Given the description of an element on the screen output the (x, y) to click on. 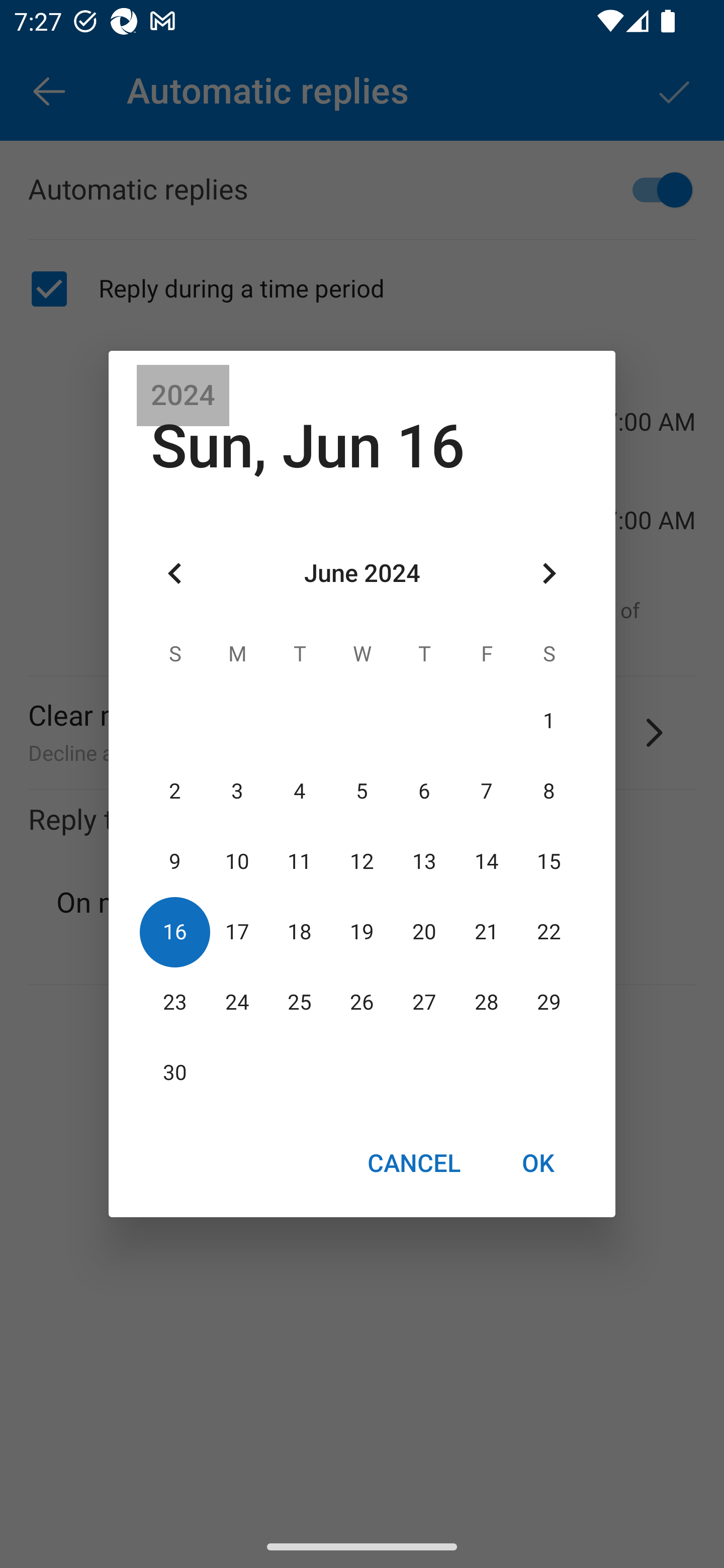
2024 (182, 395)
Sun, Jun 16 (307, 446)
Previous month (174, 573)
Next month (548, 573)
1 01 June 2024 (548, 720)
2 02 June 2024 (175, 790)
3 03 June 2024 (237, 790)
4 04 June 2024 (299, 790)
5 05 June 2024 (361, 790)
6 06 June 2024 (424, 790)
7 07 June 2024 (486, 790)
8 08 June 2024 (548, 790)
9 09 June 2024 (175, 861)
10 10 June 2024 (237, 861)
11 11 June 2024 (299, 861)
12 12 June 2024 (361, 861)
13 13 June 2024 (424, 861)
14 14 June 2024 (486, 861)
15 15 June 2024 (548, 861)
16 16 June 2024 (175, 931)
17 17 June 2024 (237, 931)
18 18 June 2024 (299, 931)
19 19 June 2024 (361, 931)
20 20 June 2024 (424, 931)
21 21 June 2024 (486, 931)
22 22 June 2024 (548, 931)
23 23 June 2024 (175, 1002)
24 24 June 2024 (237, 1002)
25 25 June 2024 (299, 1002)
26 26 June 2024 (361, 1002)
27 27 June 2024 (424, 1002)
28 28 June 2024 (486, 1002)
29 29 June 2024 (548, 1002)
30 30 June 2024 (175, 1073)
CANCEL (413, 1162)
OK (537, 1162)
